Given the description of an element on the screen output the (x, y) to click on. 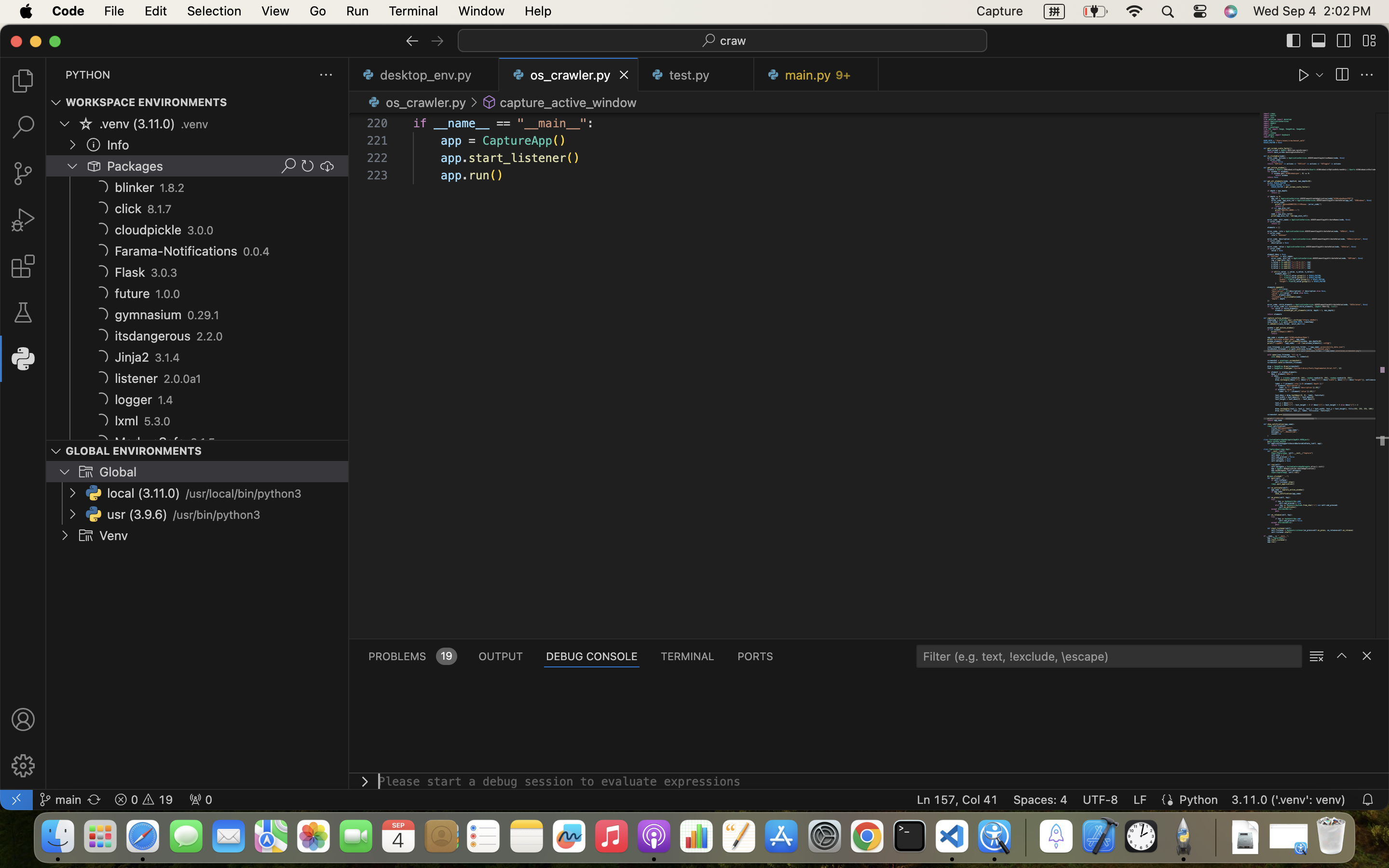
2.0.0a1 Element type: AXStaticText (182, 378)
 Element type: AXGroup (23, 80)
logger Element type: AXStaticText (133, 399)
Flask Element type: AXStaticText (129, 272)
gymnasium Element type: AXStaticText (148, 314)
